Given the description of an element on the screen output the (x, y) to click on. 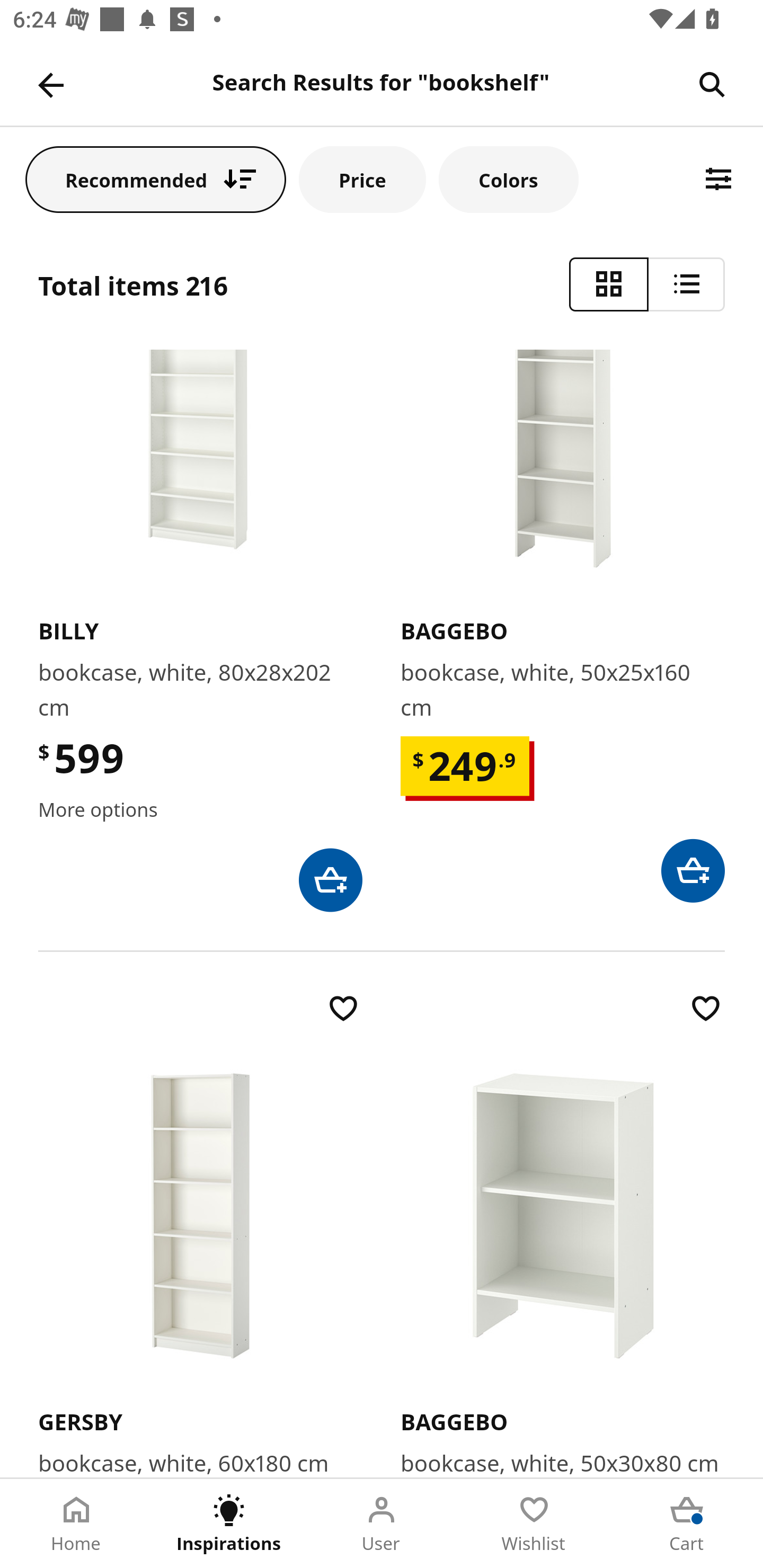
Recommended (155, 179)
Price (362, 179)
Colors (508, 179)
​G​E​R​S​B​Y​
bookcase, white, 60x180 cm
$
279
.9 (200, 1233)
Home
Tab 1 of 5 (76, 1522)
Inspirations
Tab 2 of 5 (228, 1522)
User
Tab 3 of 5 (381, 1522)
Wishlist
Tab 4 of 5 (533, 1522)
Cart
Tab 5 of 5 (686, 1522)
